Given the description of an element on the screen output the (x, y) to click on. 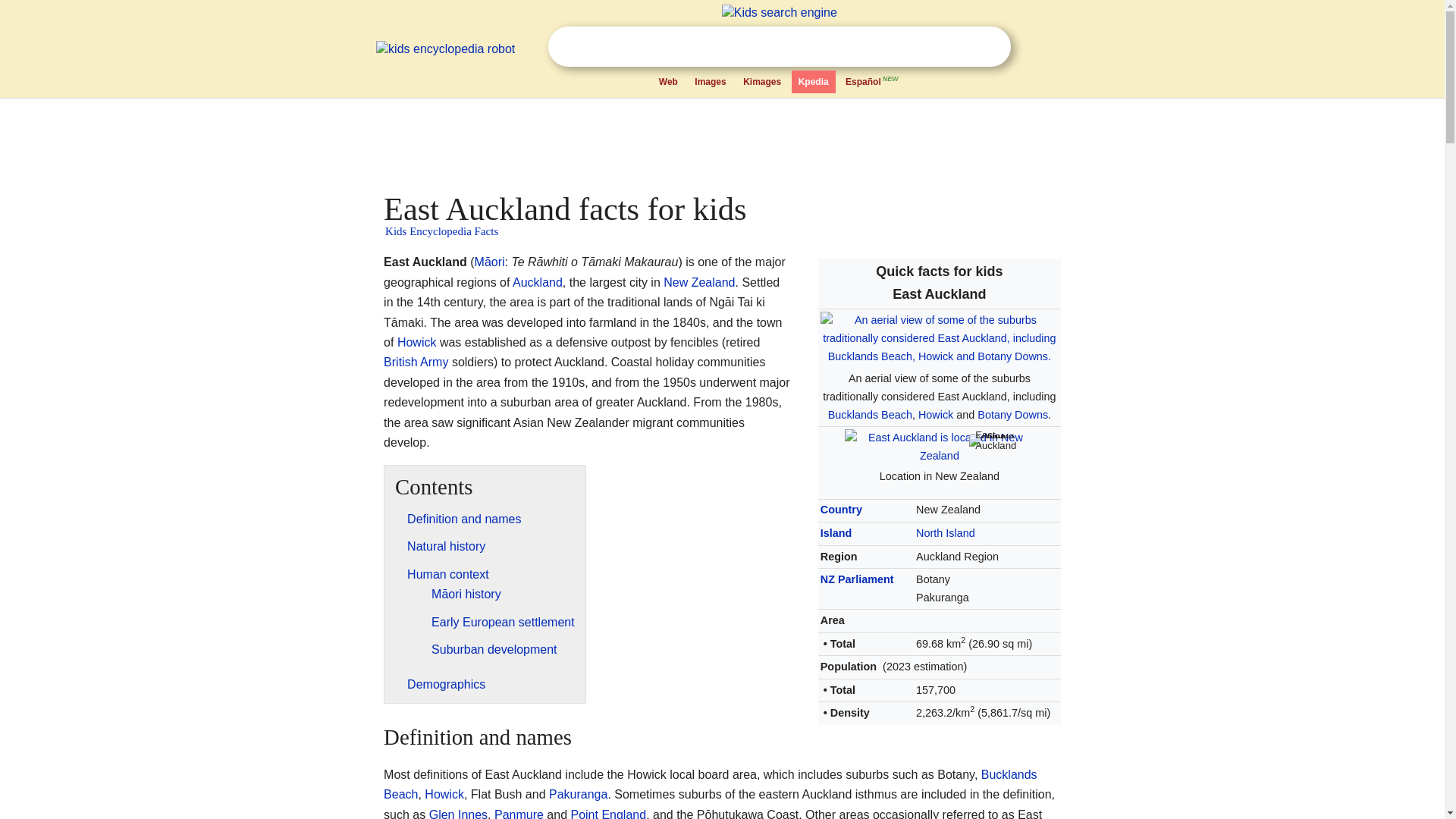
New Zealand Parliament (857, 579)
Natural history (445, 545)
List of islands of New Zealand (836, 532)
North Island (945, 532)
NZ Parliament (857, 579)
Images (709, 81)
Botany Downs (1012, 414)
East Auckland is located in New Zealand (938, 446)
Search (989, 46)
Howick, New Zealand (444, 793)
